Given the description of an element on the screen output the (x, y) to click on. 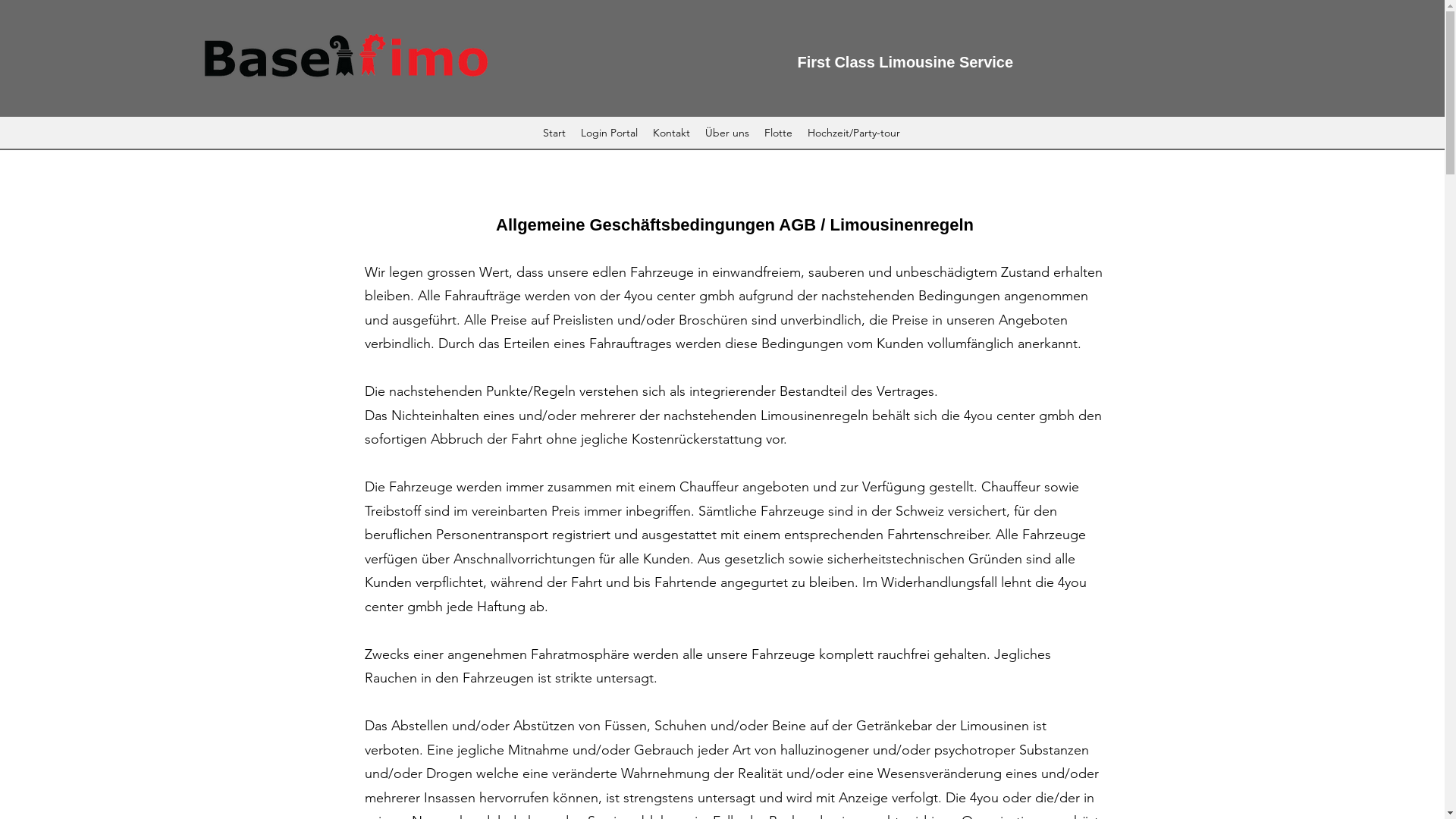
Start Element type: text (554, 132)
Flotte Element type: text (778, 132)
Kontakt Element type: text (671, 132)
Login Portal Element type: text (609, 132)
Hochzeit/Party-tour Element type: text (853, 132)
